Given the description of an element on the screen output the (x, y) to click on. 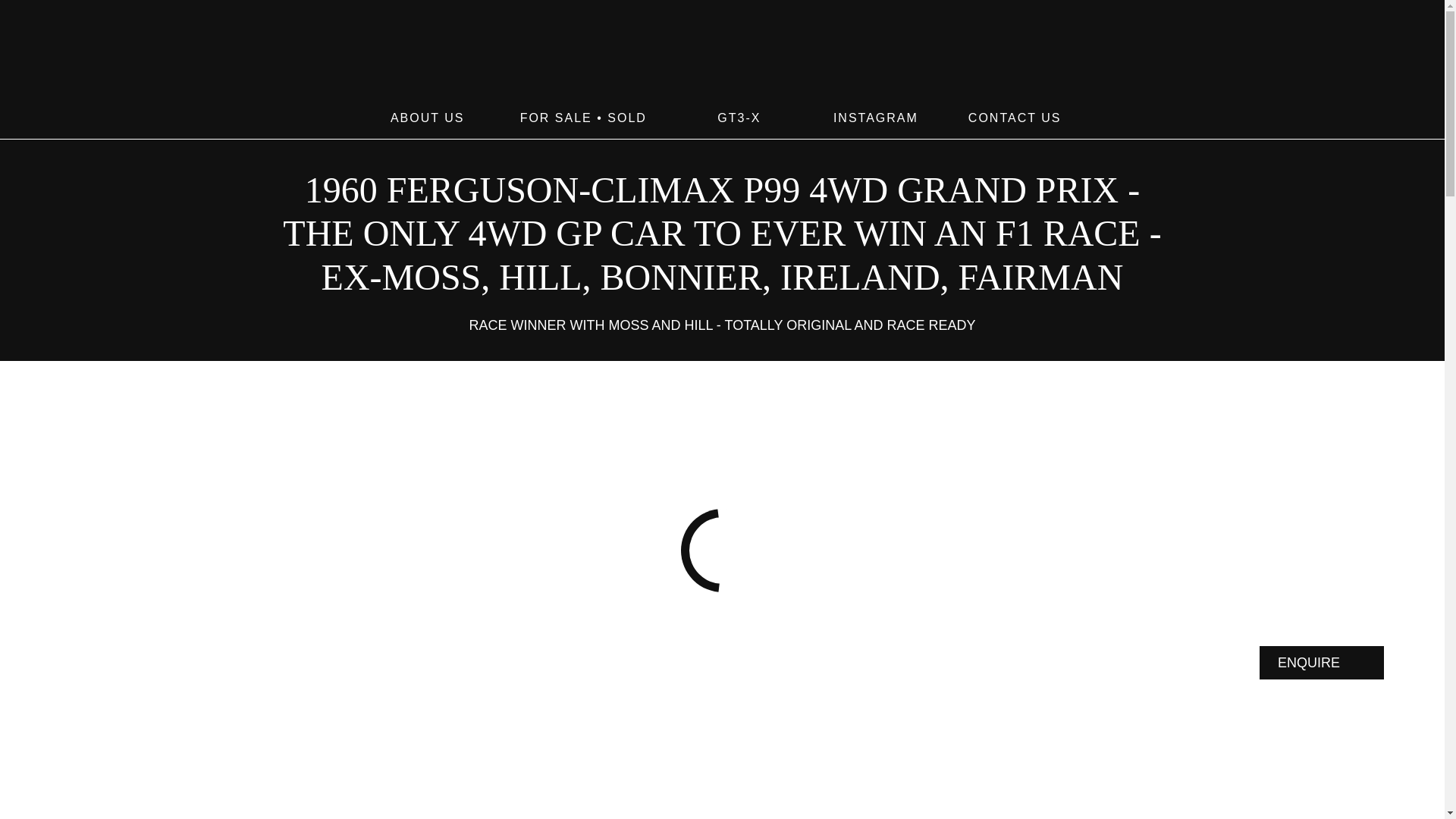
CONTACT US (1014, 117)
SOLD (626, 117)
FOR SALE (555, 117)
GT3-X (738, 117)
Logo (722, 54)
ABOUT US (427, 117)
INSTAGRAM (875, 117)
